Given the description of an element on the screen output the (x, y) to click on. 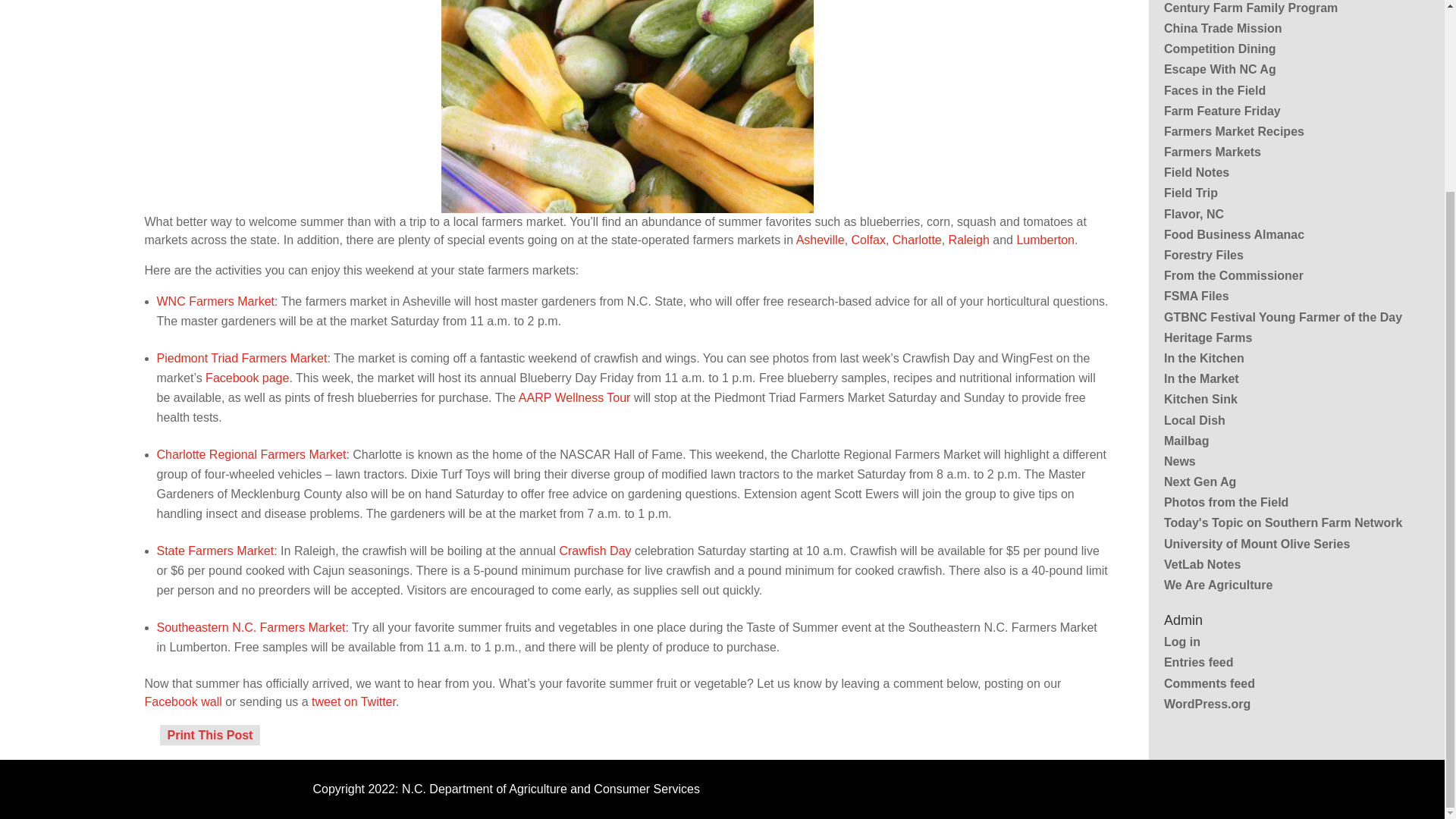
Colfax (868, 239)
Crawfish Day (594, 550)
Piedmont Triad Farmers Market (240, 358)
Lumberton (1045, 239)
Farmers Market Recipes (1233, 131)
Print This Post (209, 734)
Facebook page (246, 377)
Forestry Files (1203, 254)
Field Trip (1190, 192)
Facebook wall (182, 700)
Flavor, NC (1193, 214)
Charlotte Regional Farmers Market (250, 453)
Farm Feature Friday (1222, 110)
Asheville (820, 239)
Food Business Almanac (1233, 234)
